Given the description of an element on the screen output the (x, y) to click on. 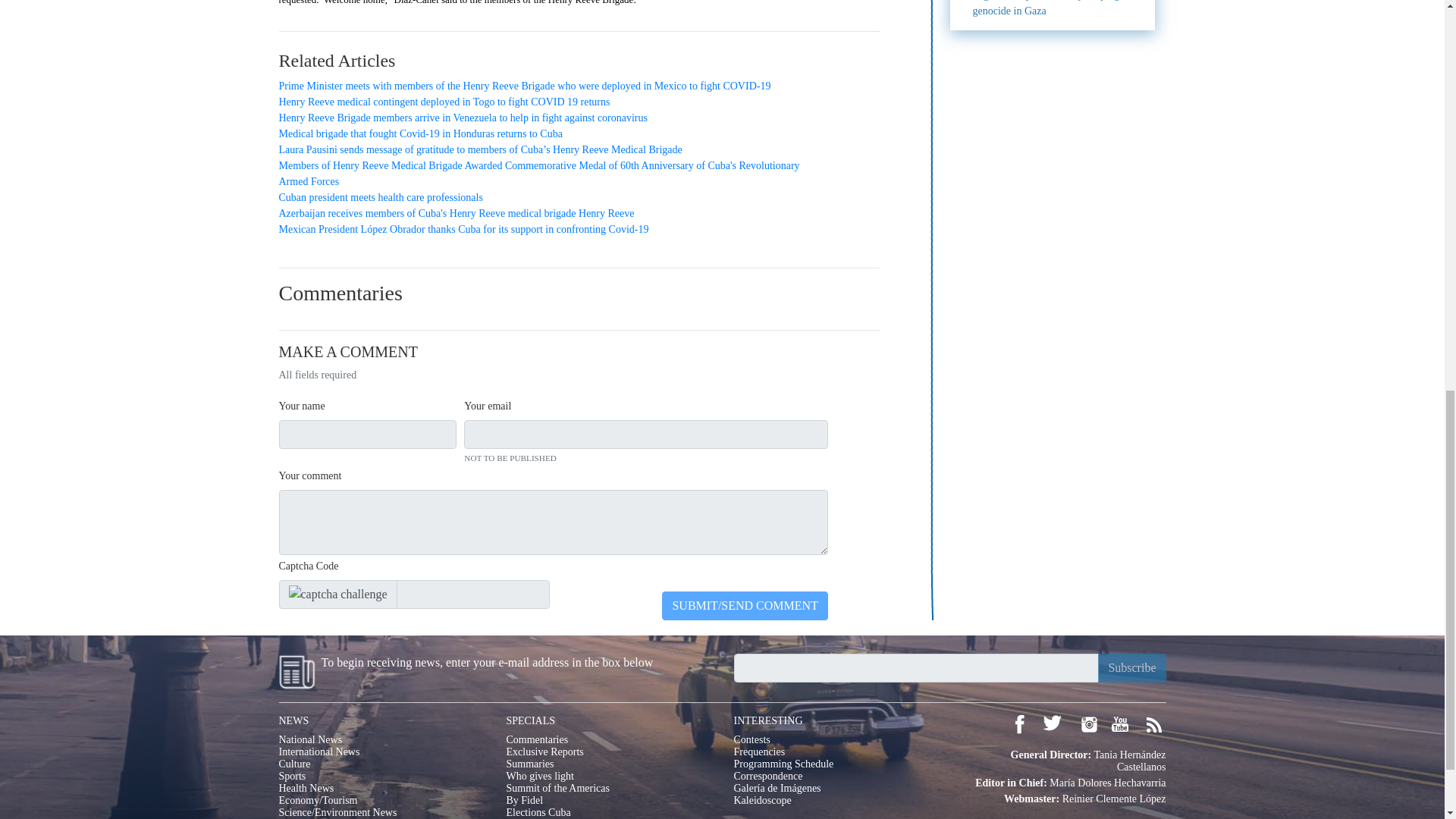
bulletin-mail (916, 667)
